Given the description of an element on the screen output the (x, y) to click on. 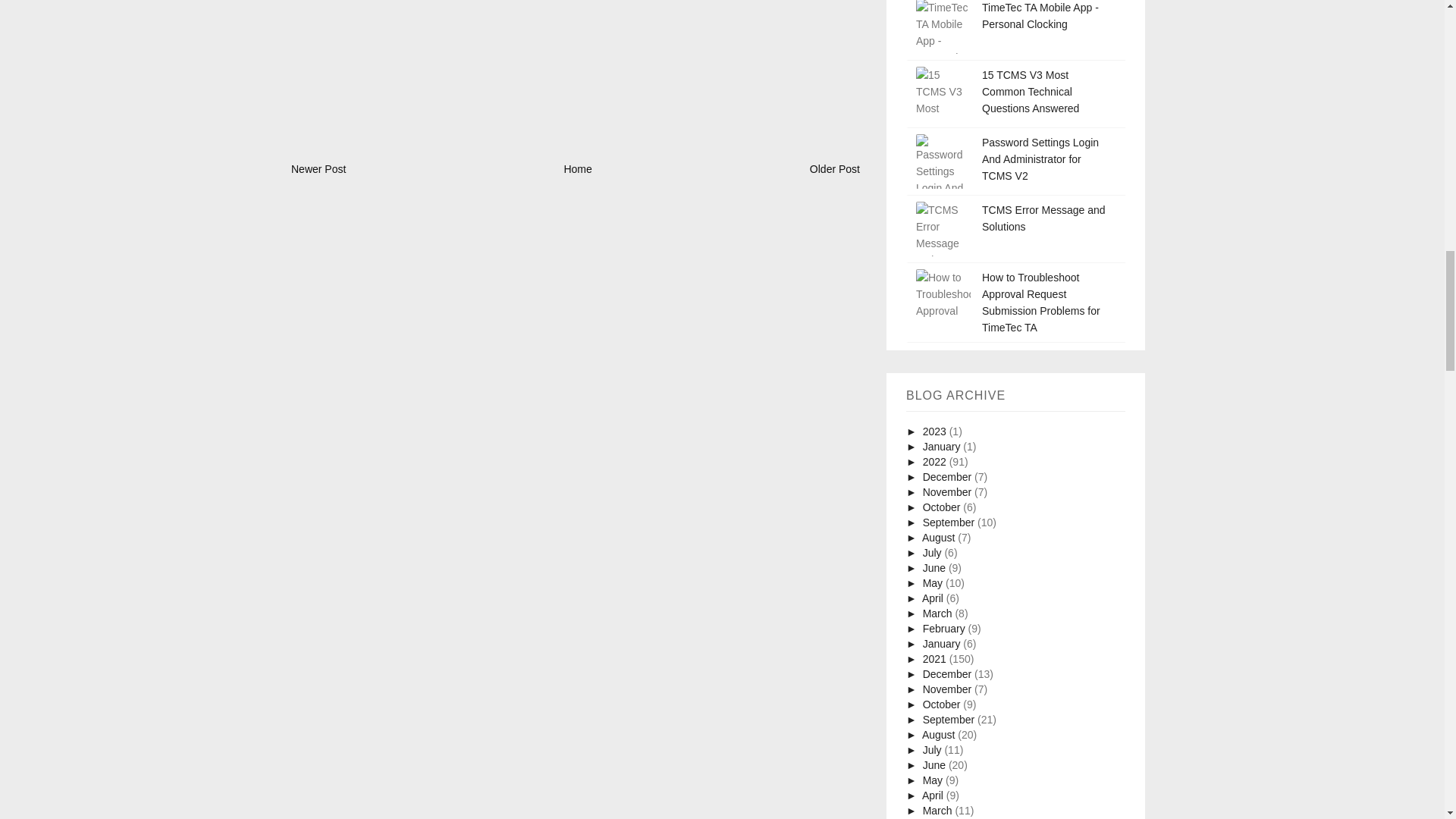
Newer Post (318, 168)
Older Post (834, 168)
